Given the description of an element on the screen output the (x, y) to click on. 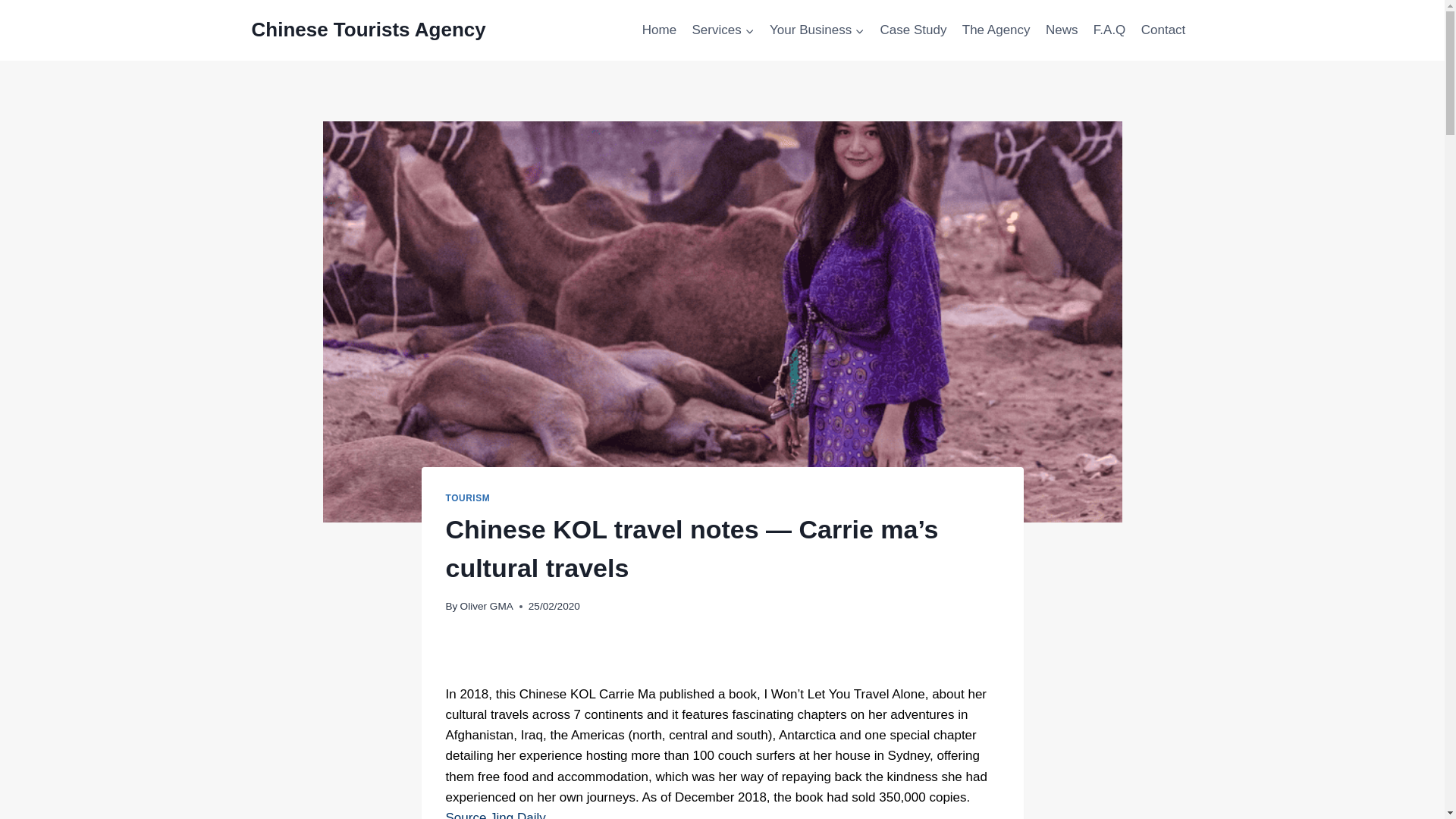
F.A.Q (1110, 30)
Case Study (912, 30)
The Agency (996, 30)
Contact (1163, 30)
TOURISM (467, 498)
Chinese Tourists Agency (368, 29)
Expertise in Tourism In China (996, 30)
News (1062, 30)
Tourism Agency Marketing (659, 30)
Home (659, 30)
